Given the description of an element on the screen output the (x, y) to click on. 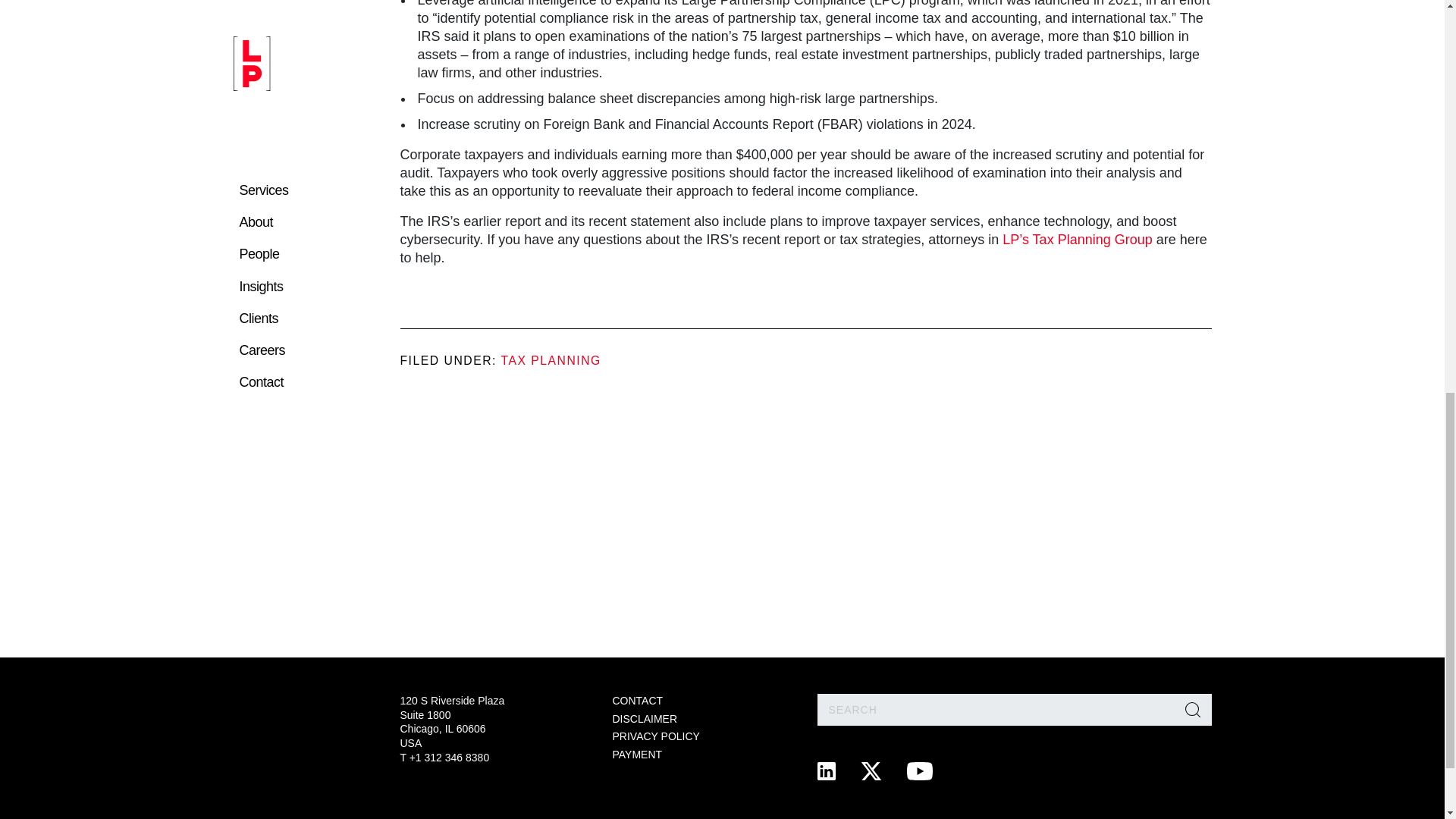
TAX PLANNING (549, 359)
